Given the description of an element on the screen output the (x, y) to click on. 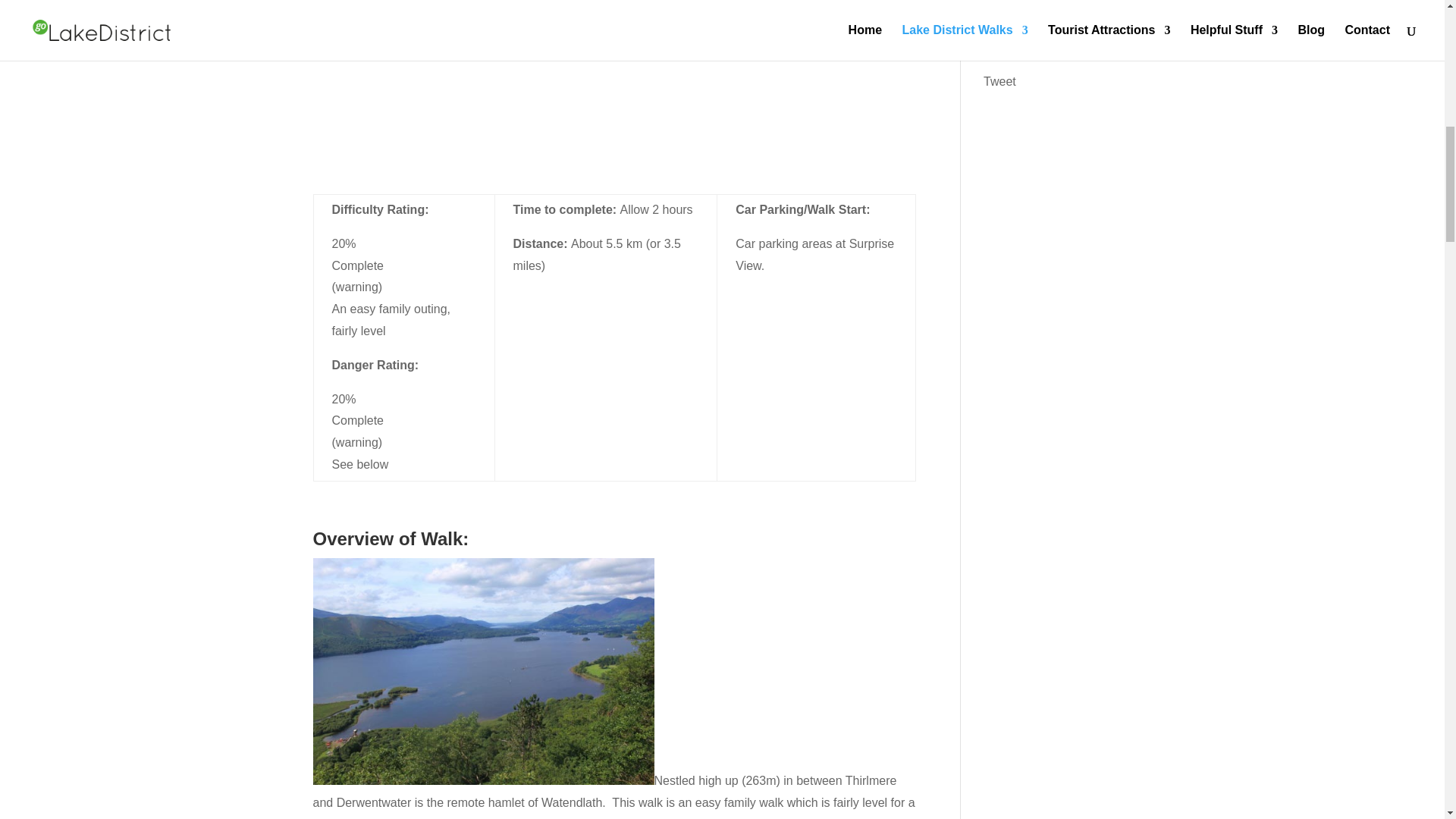
Derwentwater from Surprise View, Borrowdale, Lake District (483, 670)
